Given the description of an element on the screen output the (x, y) to click on. 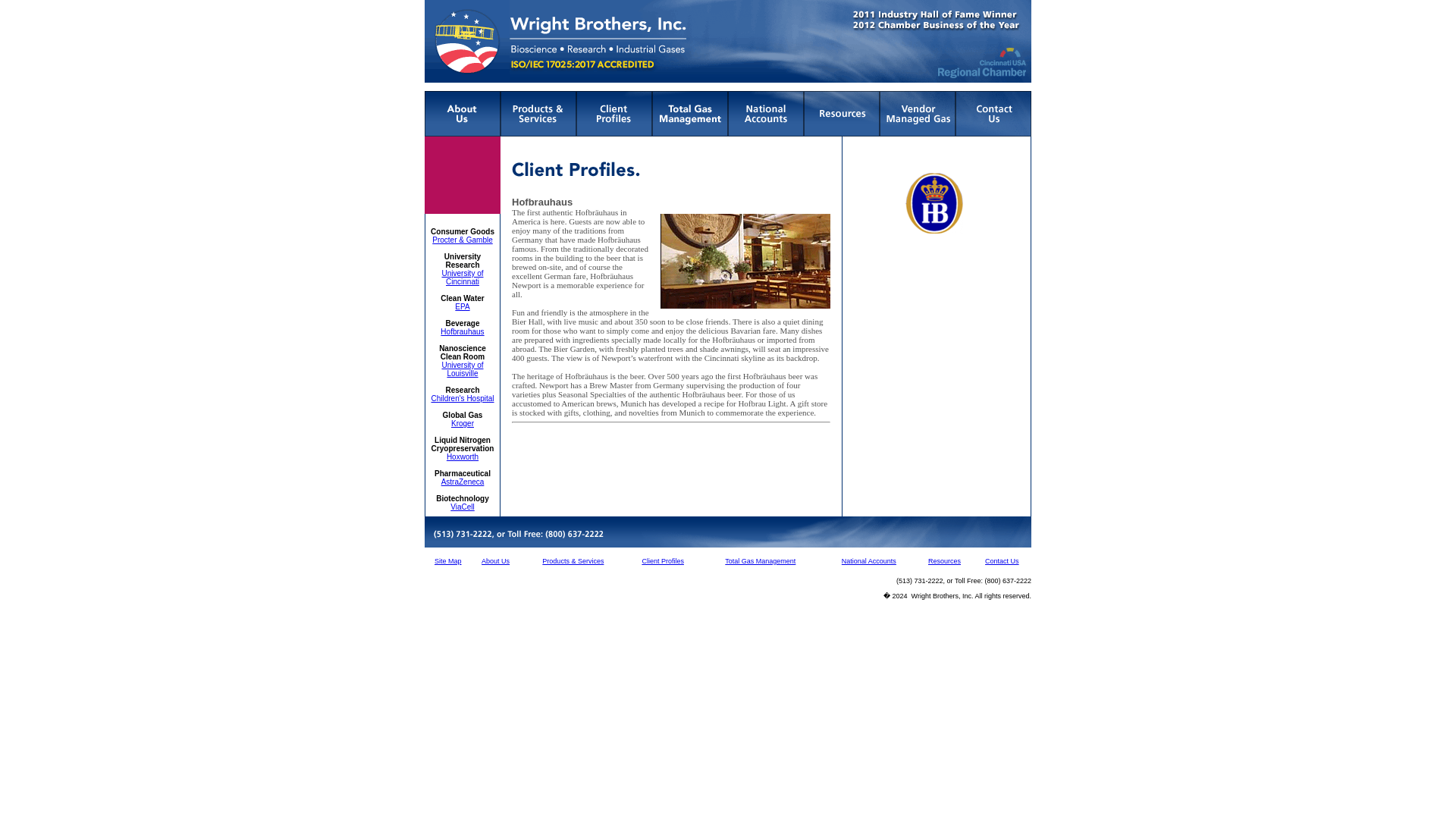
University of Cincinnati (462, 277)
Client Profiles (663, 561)
Contact Us (1002, 561)
About Us (495, 561)
Hofbrauhaus (462, 331)
Kroger (462, 423)
Hoxworth (462, 456)
Children's Hospital (461, 397)
ViaCell (461, 506)
Total Gas Management (759, 561)
Site Map (447, 561)
University of Louisville (462, 369)
Resources (944, 561)
National Accounts (868, 561)
EPA (461, 306)
